Given the description of an element on the screen output the (x, y) to click on. 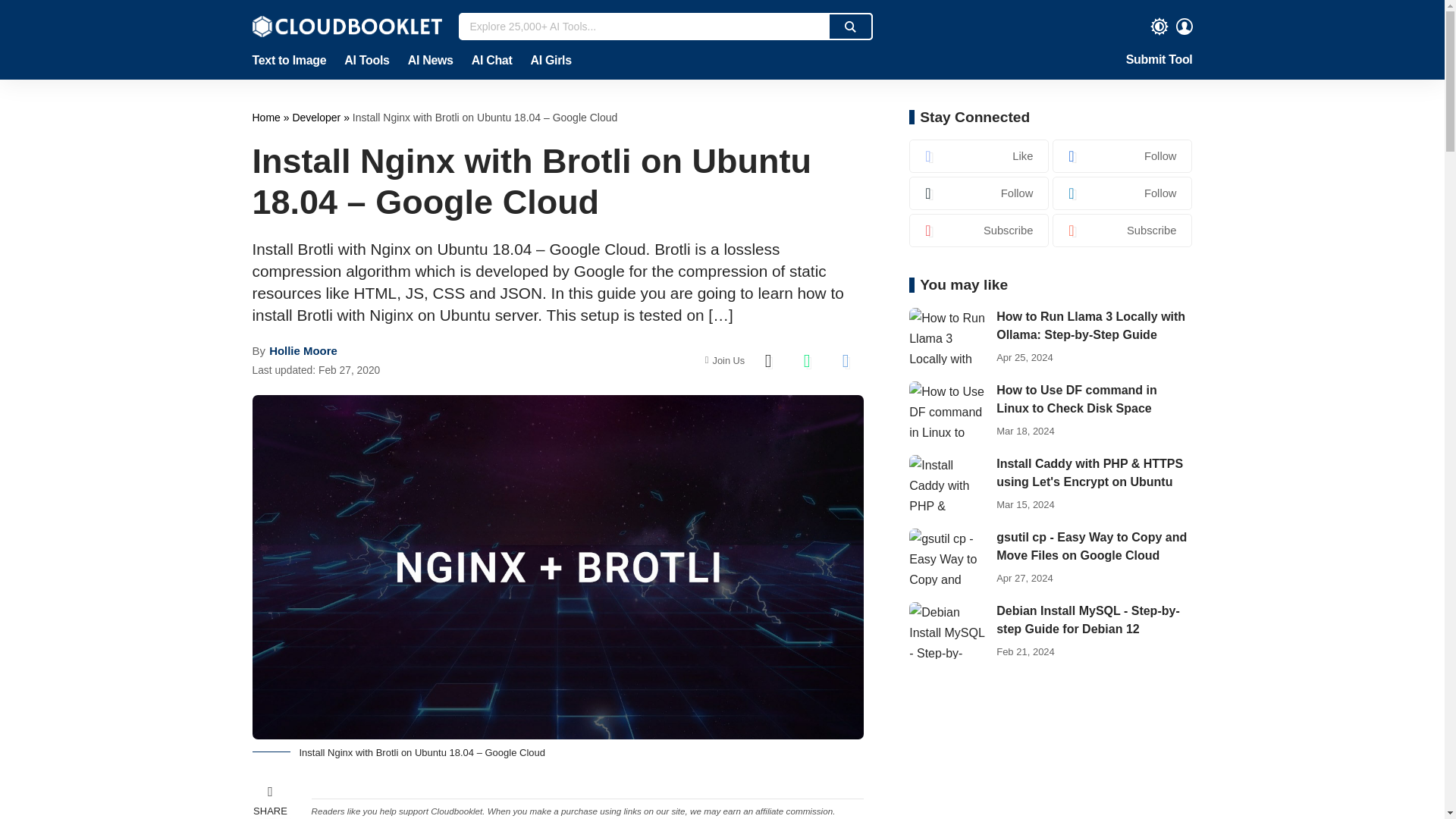
How to Run Llama 3 Locally with Ollama: Step-by-Step Guide (946, 335)
Submit Tool (1158, 60)
Cloudbooklet AI (266, 117)
AI News (430, 60)
Developer (317, 117)
Home (266, 117)
How to Use DF command in Linux to Check Disk Space (946, 409)
Hollie Moore (303, 350)
AI Chat (492, 60)
AI Girls (545, 60)
Debian Install MySQL - Step-by-step Guide for Debian 12 (946, 630)
Text to Image (292, 60)
gsutil cp - Easy Way to Copy and Move Files on Google Cloud (946, 556)
Developer (317, 117)
AI Tools (365, 60)
